Given the description of an element on the screen output the (x, y) to click on. 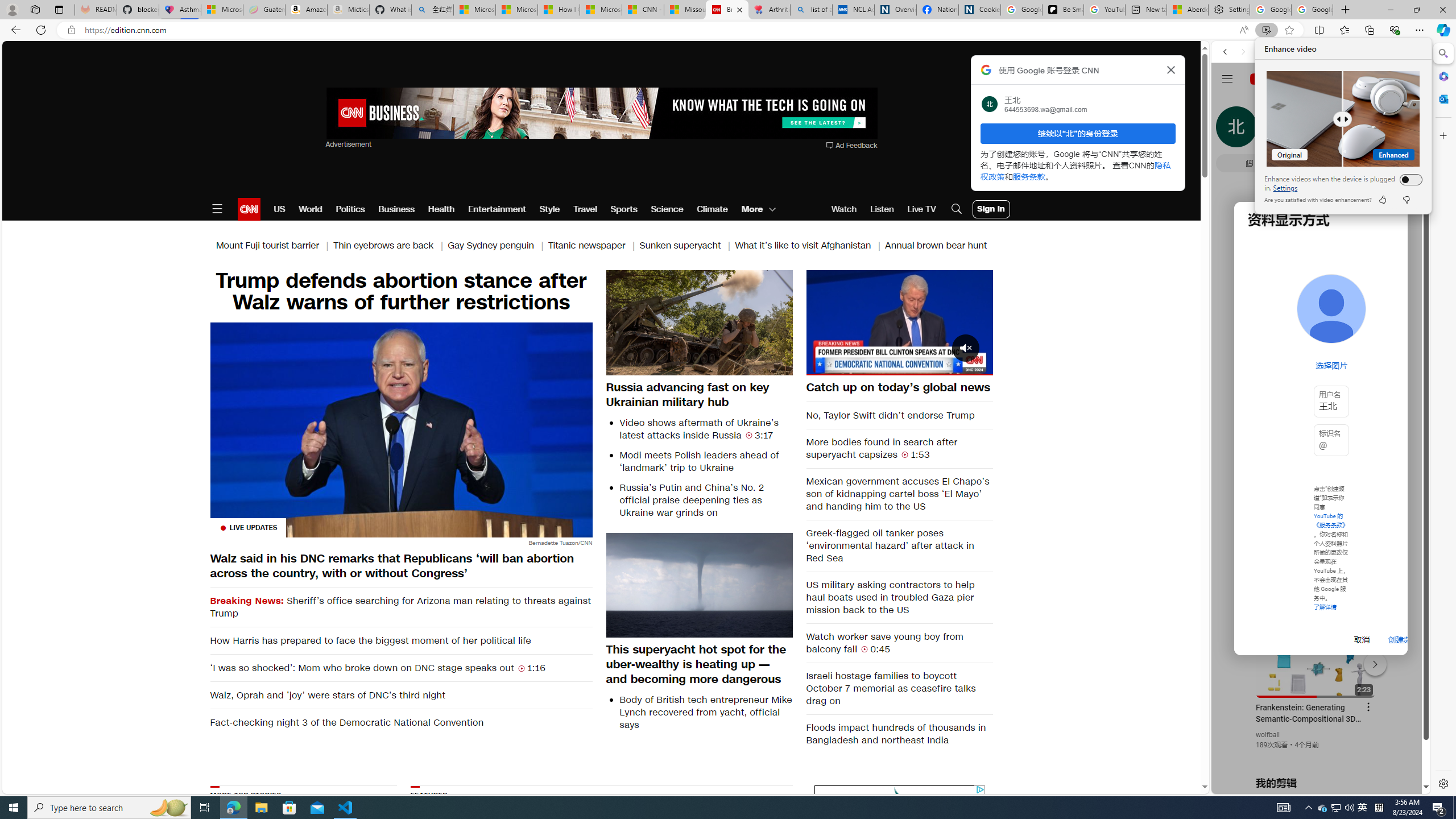
Mount Fuji tourist barrier | (274, 245)
Music (1320, 309)
Music (1320, 309)
Tray Input Indicator - Chinese (Simplified, China) (1378, 807)
Notification Chevron (1308, 807)
Russia advancing fast on key Ukrainian military hub (699, 394)
